Given the description of an element on the screen output the (x, y) to click on. 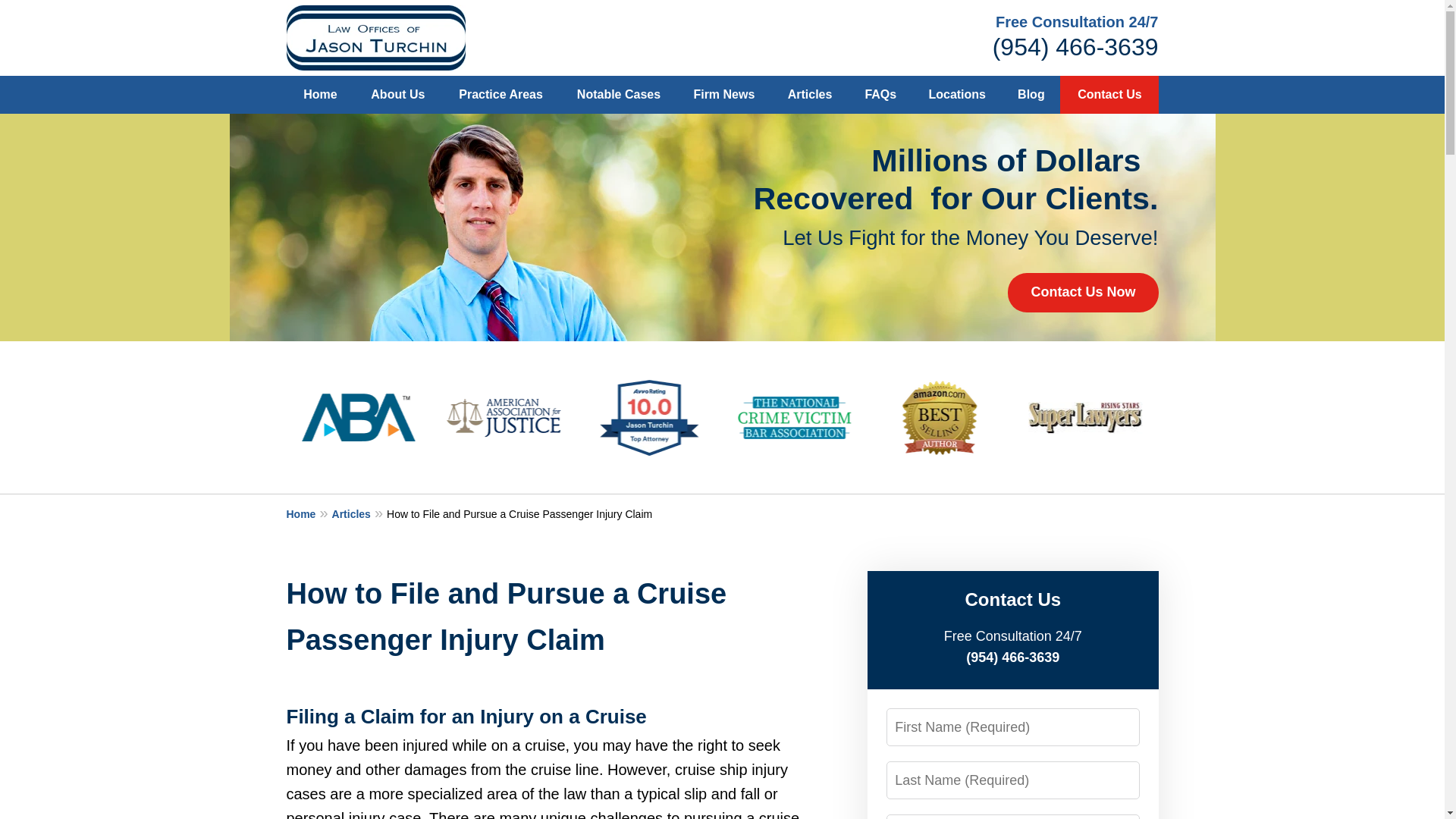
Home (320, 94)
Articles (809, 94)
Practice Areas (500, 94)
Notable Cases (618, 94)
Locations (957, 94)
Home (308, 513)
Contact Us (1108, 94)
Blog (1031, 94)
About Us (397, 94)
Firm News (724, 94)
Contact Us Now (1082, 292)
Articles (359, 513)
FAQs (880, 94)
